Given the description of an element on the screen output the (x, y) to click on. 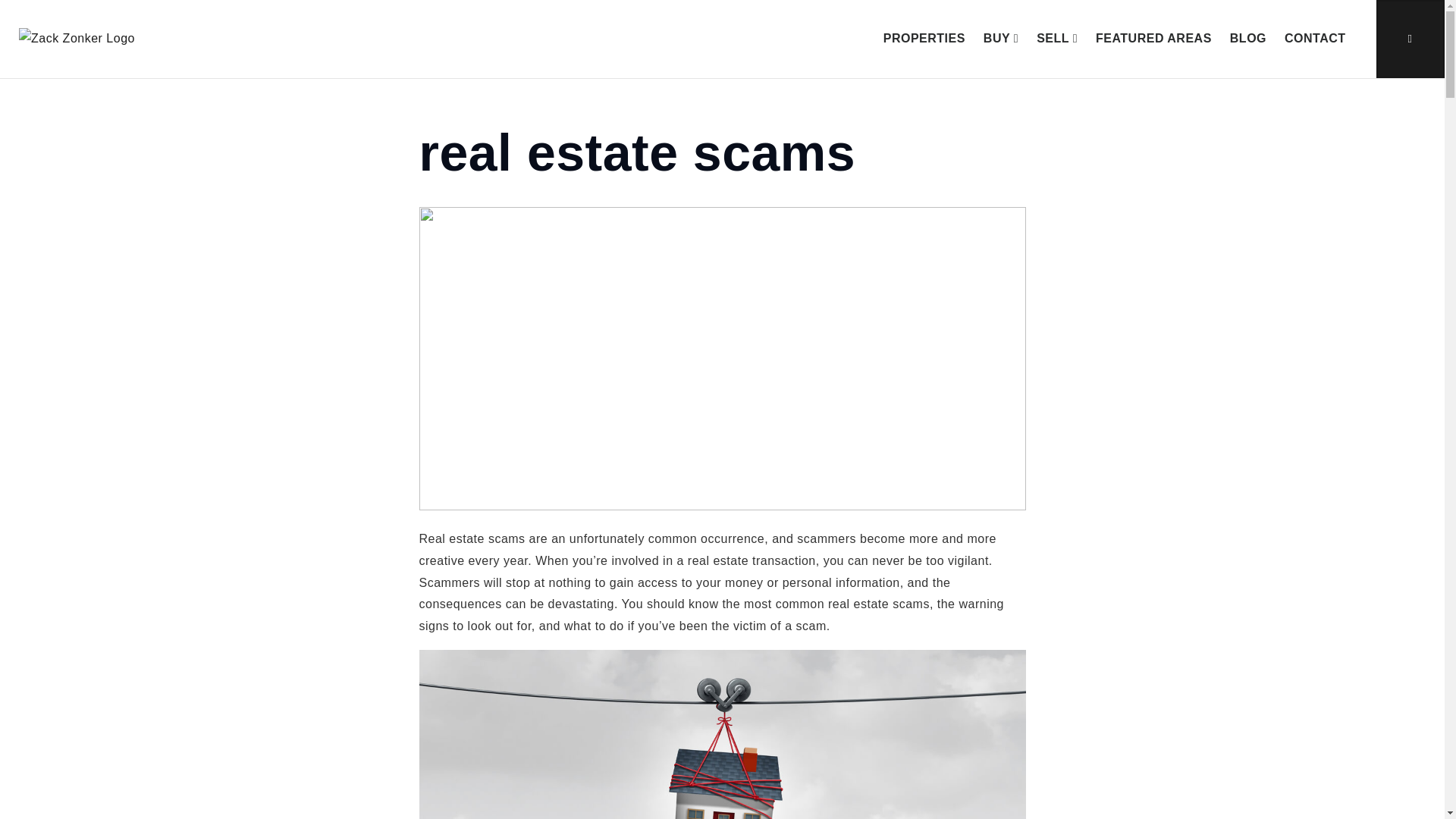
BLOG (1248, 38)
PROPERTIES (924, 38)
BUY (1000, 38)
SELL (1056, 38)
FEATURED AREAS (1153, 38)
CONTACT (1315, 38)
